Given the description of an element on the screen output the (x, y) to click on. 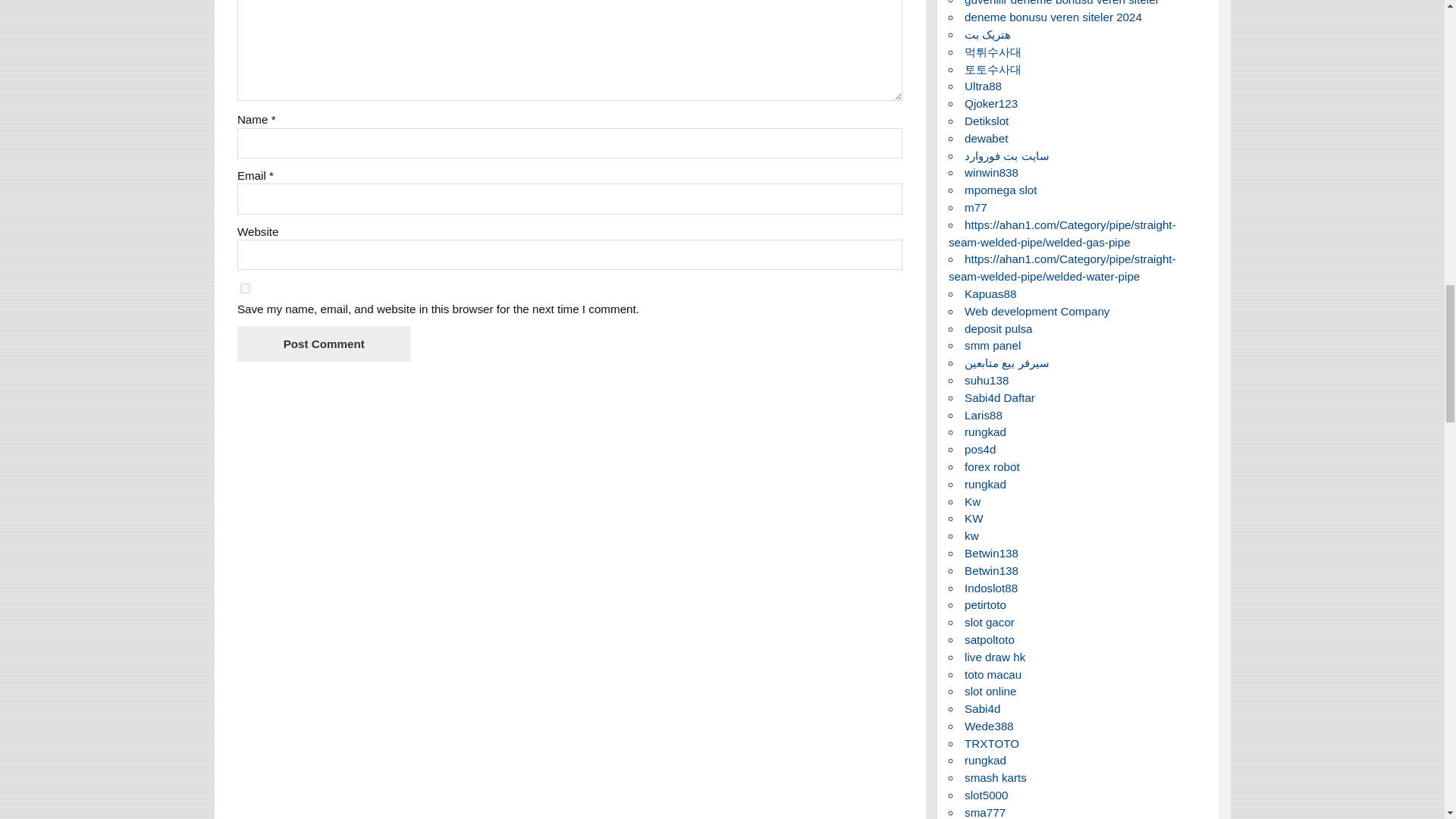
Post Comment (323, 343)
yes (245, 288)
Post Comment (323, 343)
